Given the description of an element on the screen output the (x, y) to click on. 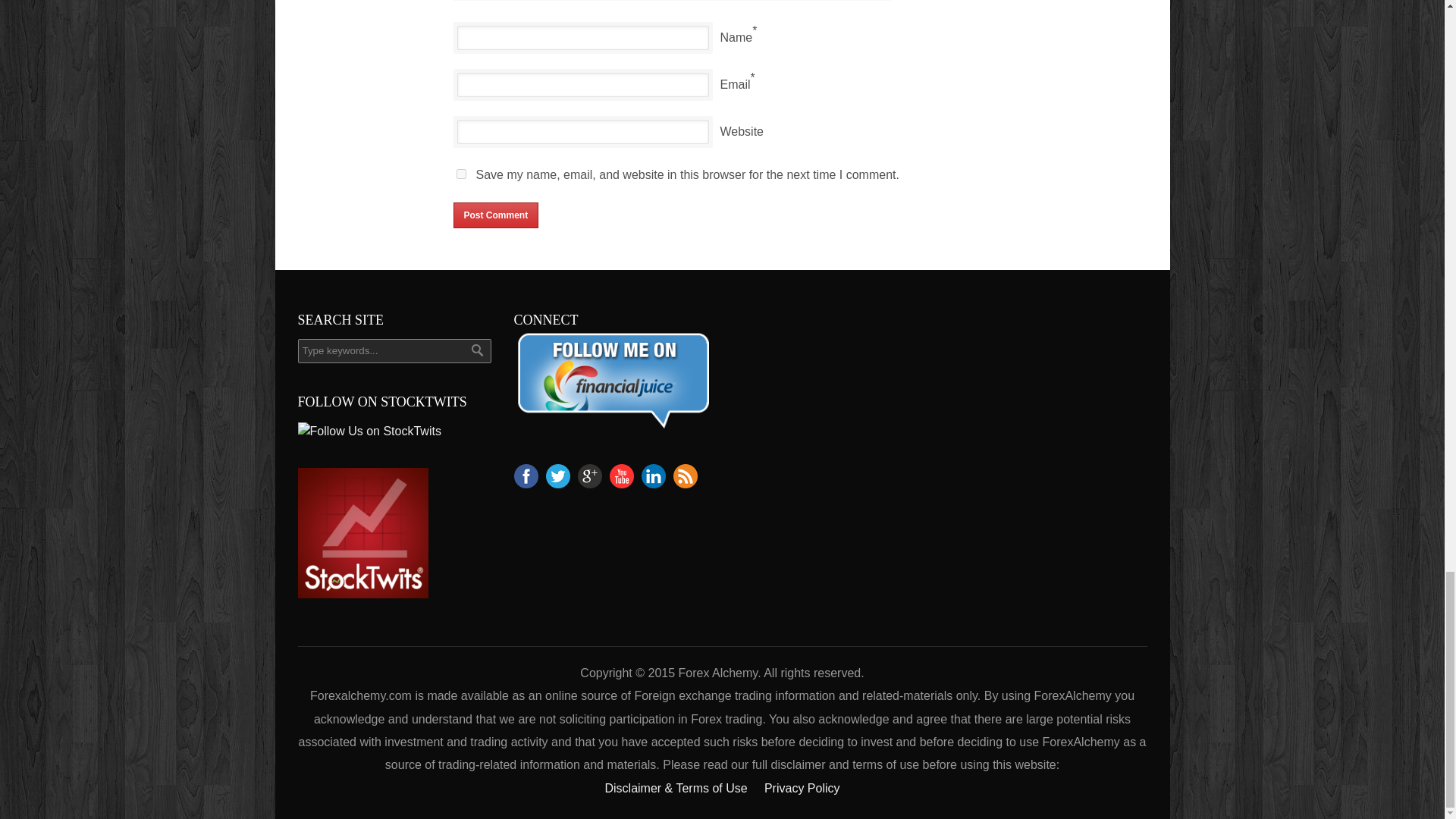
yes (461, 173)
Type keywords... (393, 351)
Post Comment (495, 215)
